Given the description of an element on the screen output the (x, y) to click on. 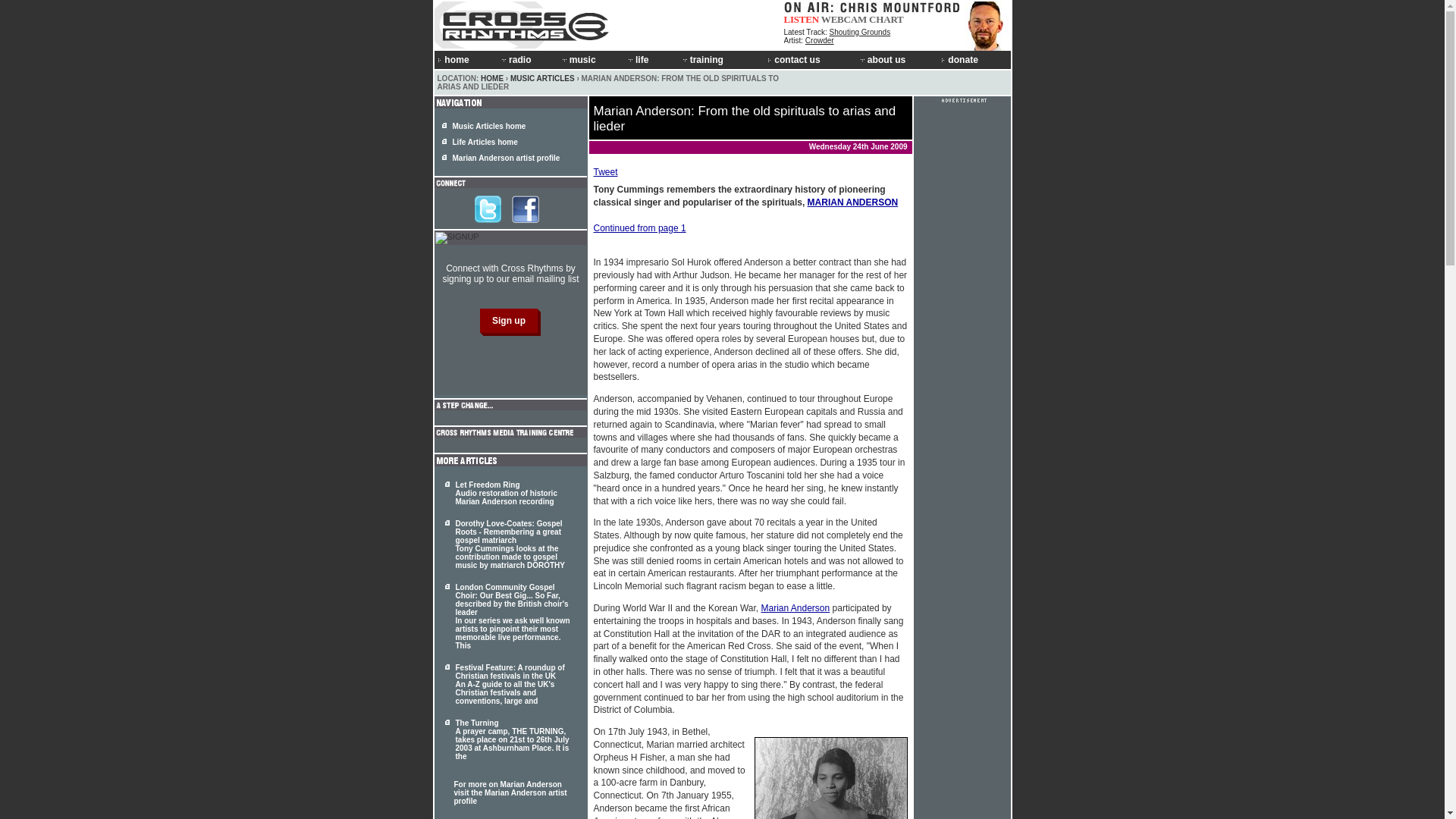
life (651, 59)
training (723, 59)
LISTEN (801, 19)
CHART (886, 19)
Shouting Grounds (860, 31)
WEBCAM (843, 19)
music (591, 59)
about us (898, 59)
home (466, 59)
contact us (811, 59)
